Given the description of an element on the screen output the (x, y) to click on. 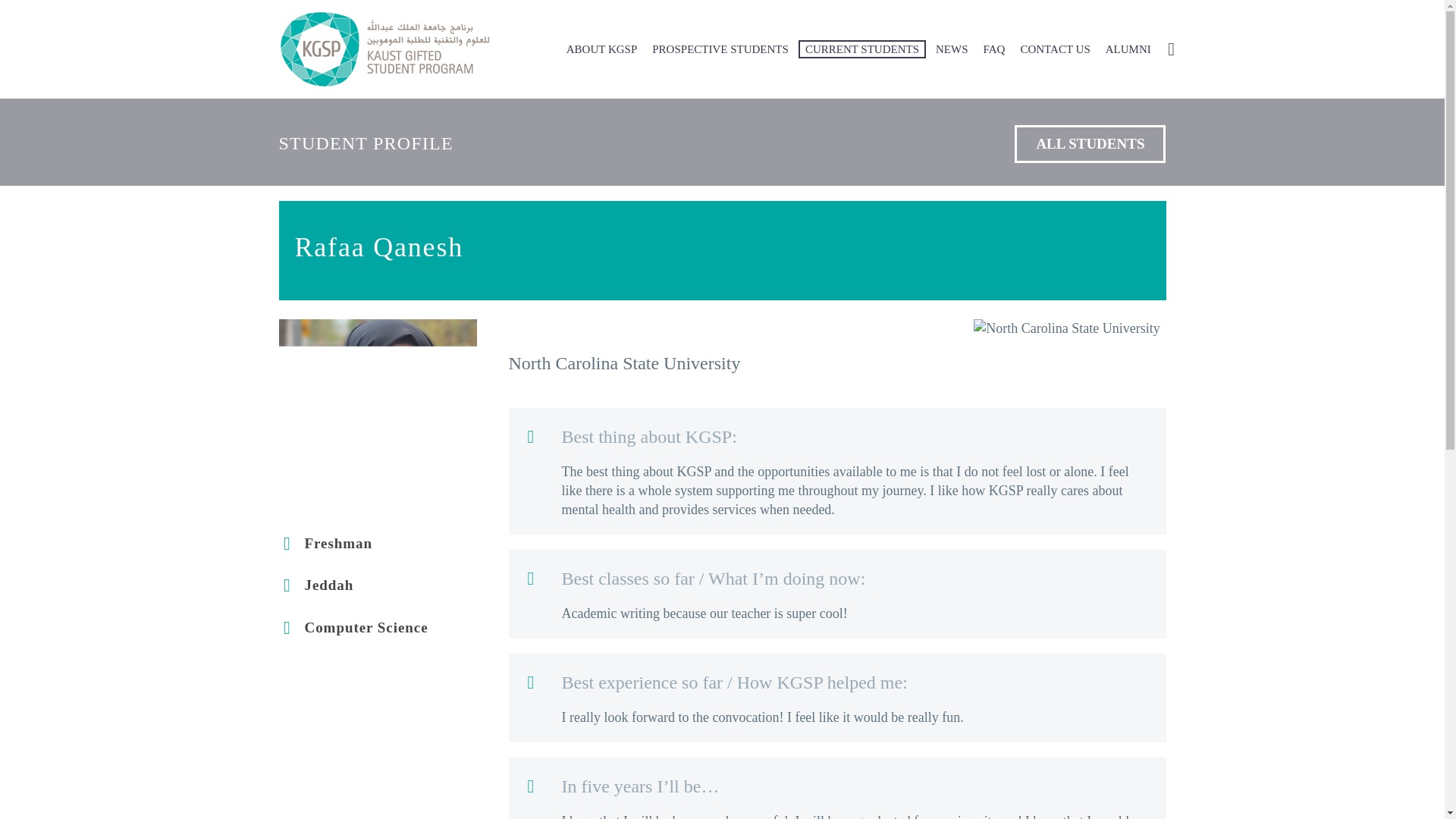
NEWS (952, 48)
North Carolina State University (1066, 328)
PROSPECTIVE STUDENTS (719, 48)
FAQ (994, 48)
CONTACT US (1054, 48)
ALL STUDENTS (1090, 143)
ALUMNI (1128, 48)
ABOUT KGSP (601, 48)
Rafaa Qanesh (378, 417)
CURRENT STUDENTS (861, 49)
